Given the description of an element on the screen output the (x, y) to click on. 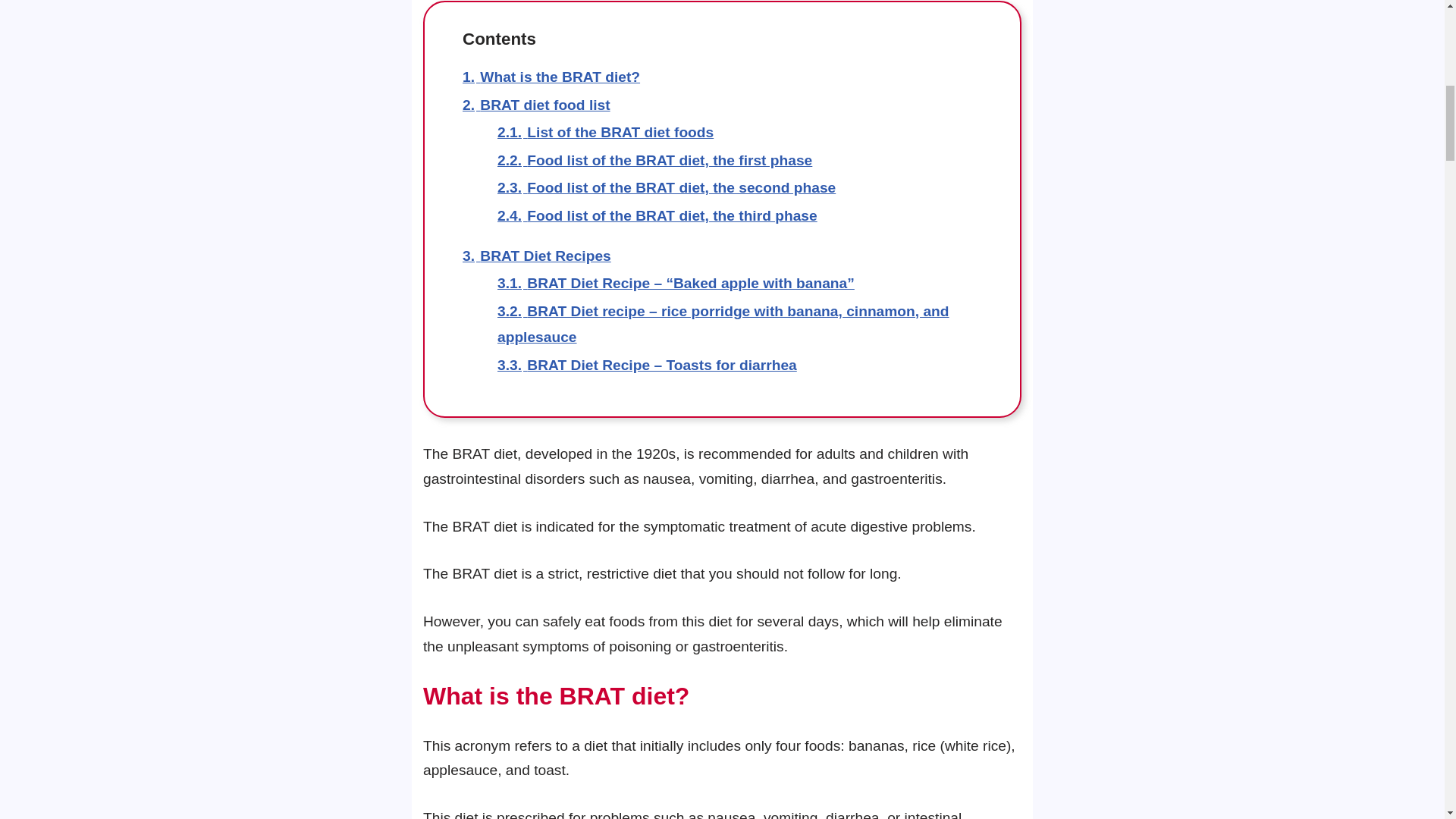
2.4. Food list of the BRAT diet, the third phase (656, 215)
2. BRAT diet food list (536, 105)
1. What is the BRAT diet? (551, 76)
2.2. Food list of the BRAT diet, the first phase (654, 160)
2.1. List of the BRAT diet foods (605, 132)
2.3. Food list of the BRAT diet, the second phase (666, 187)
